Given the description of an element on the screen output the (x, y) to click on. 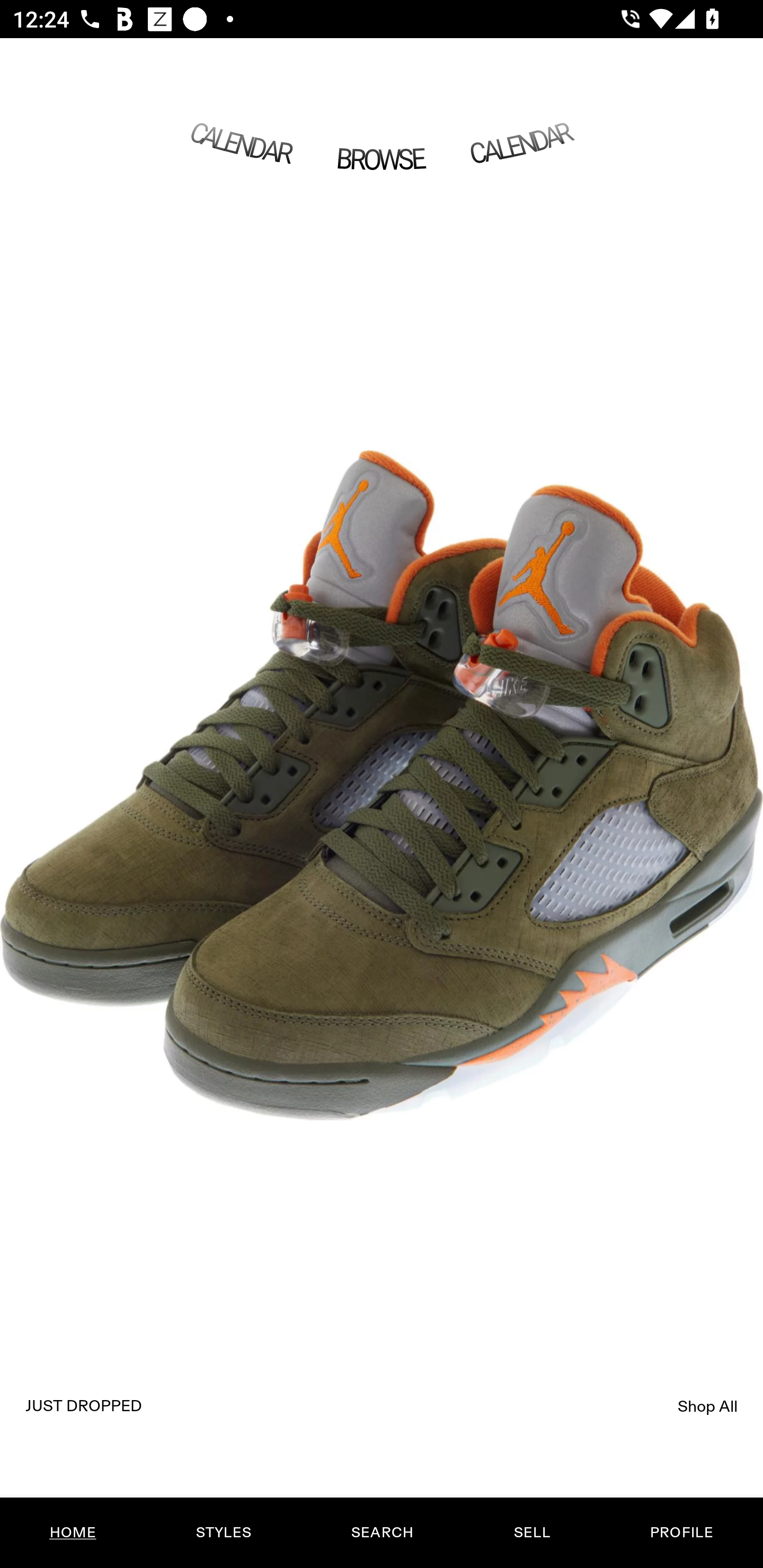
Shop All (707, 1406)
HOME (72, 1532)
STYLES (222, 1532)
SEARCH (381, 1532)
SELL (531, 1532)
PROFILE (681, 1532)
